Given the description of an element on the screen output the (x, y) to click on. 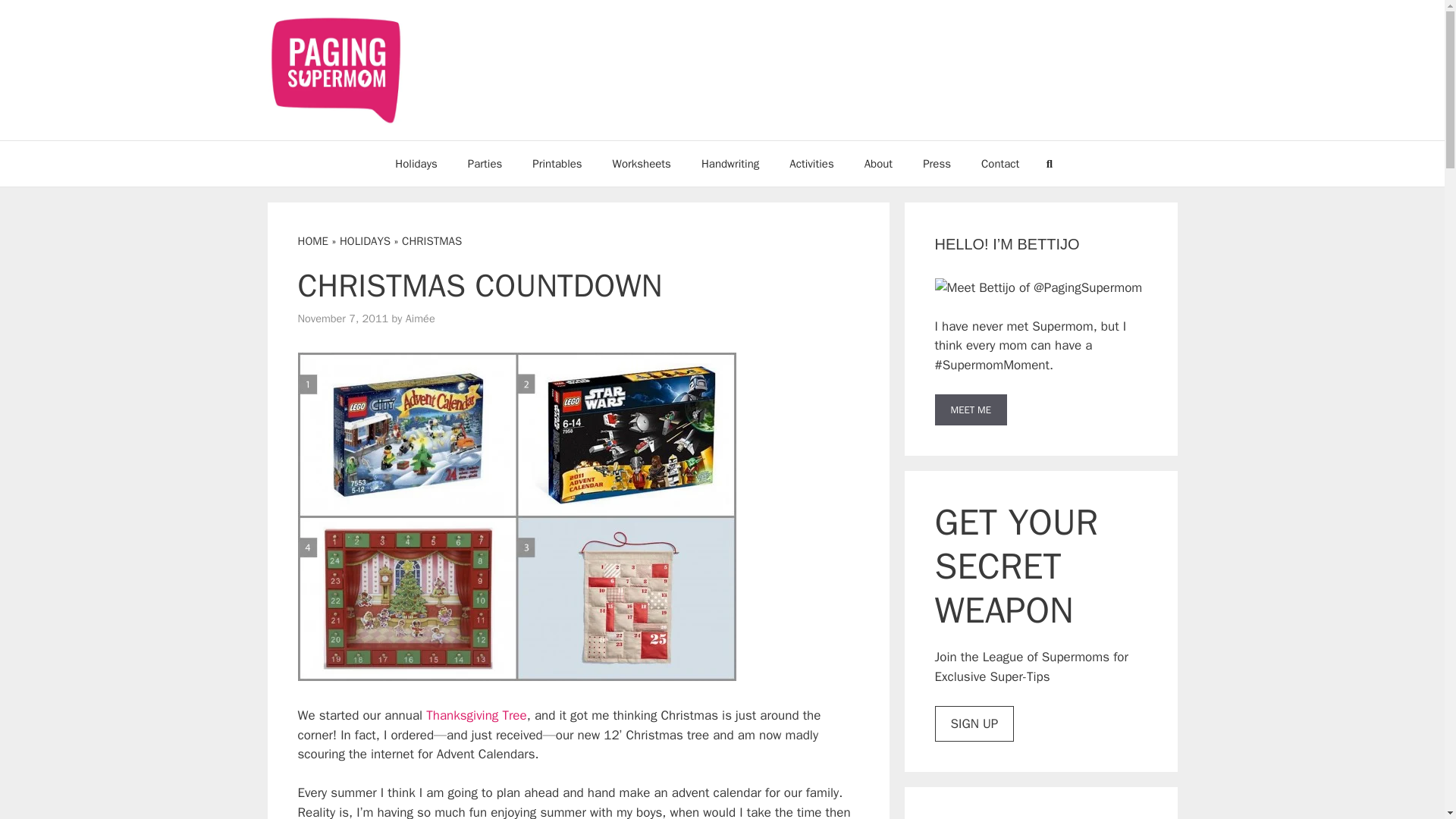
Thanksgiving Tree (475, 715)
Activities (811, 163)
Holidays (415, 163)
Worksheets (640, 163)
Contact (999, 163)
Parties (485, 163)
HOLIDAYS (364, 241)
HOME (312, 241)
About (877, 163)
Printables (556, 163)
Handwriting (729, 163)
CHRISTMAS (431, 241)
Press (936, 163)
